Given the description of an element on the screen output the (x, y) to click on. 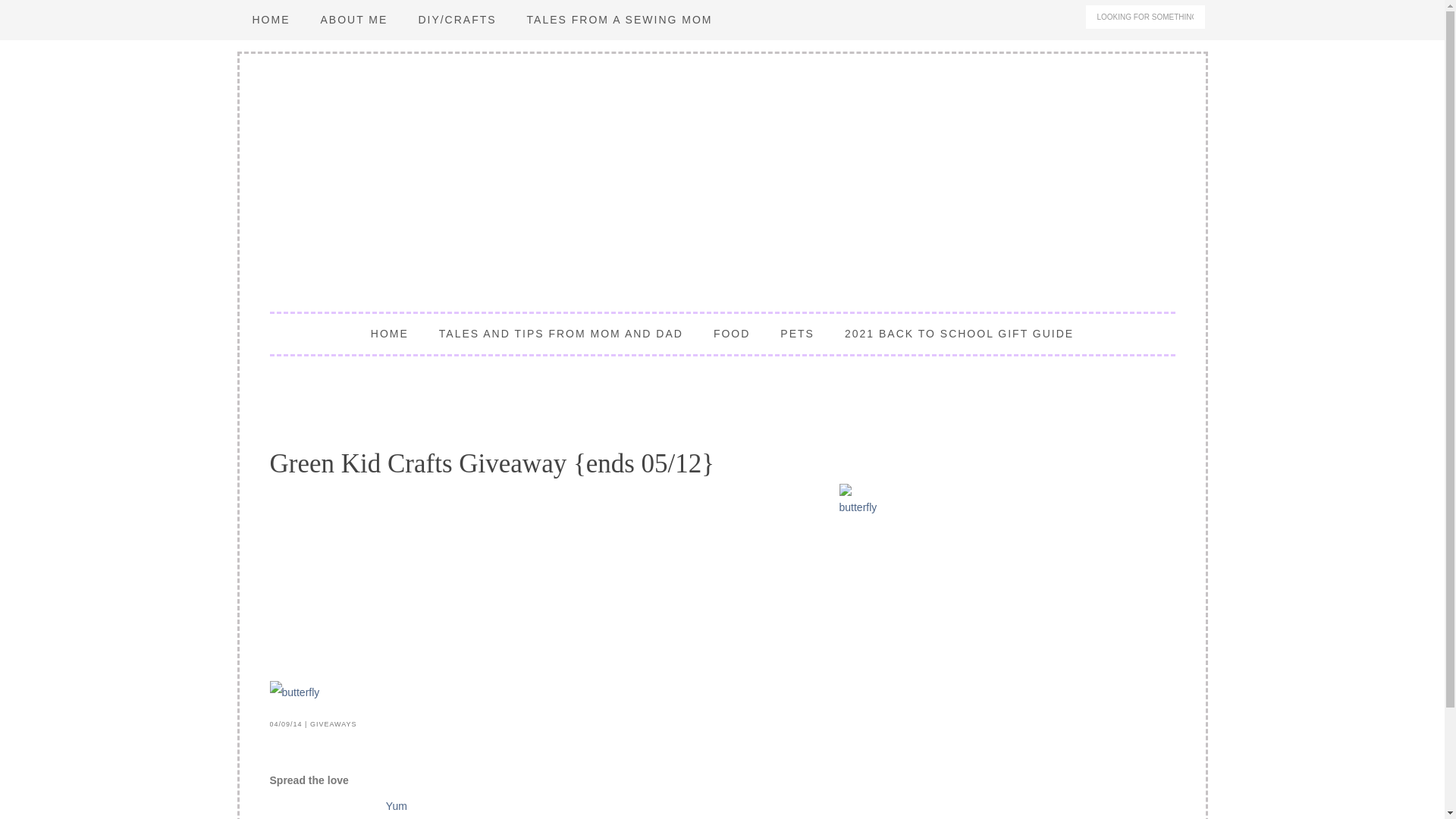
PETS (797, 333)
HOME (269, 20)
2021 BACK TO SCHOOL GIFT GUIDE (959, 333)
FOOD (731, 333)
Yum (396, 806)
Tales From A Southern Mom (722, 178)
HOME (389, 333)
TALES AND TIPS FROM MOM AND DAD (560, 333)
